Given the description of an element on the screen output the (x, y) to click on. 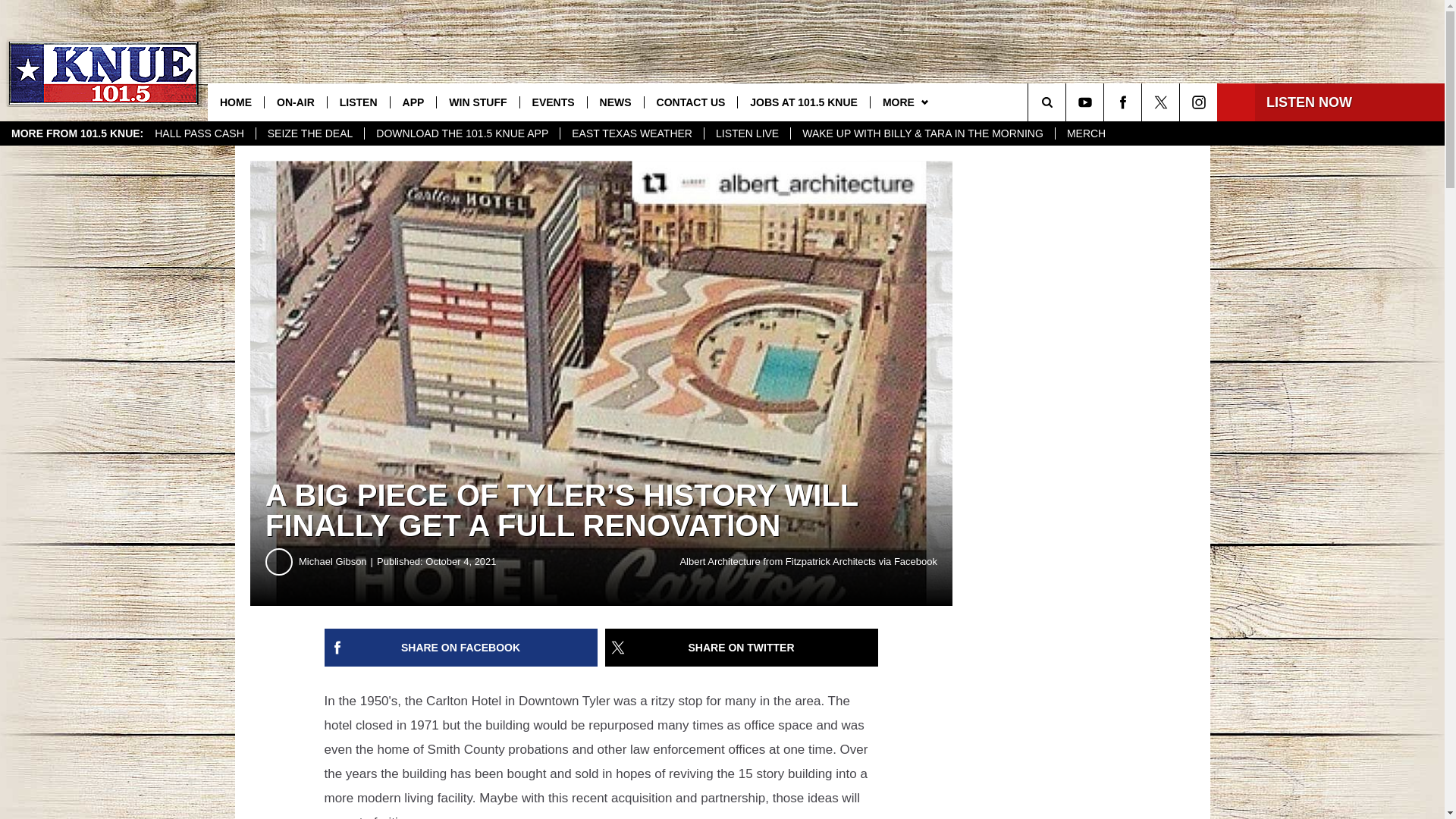
ON-AIR (294, 102)
SEARCH (1068, 102)
SEIZE THE DEAL (310, 133)
APP (413, 102)
LISTEN (358, 102)
MERCH (1085, 133)
Share on Facebook (460, 647)
EVENTS (552, 102)
WIN STUFF (476, 102)
HOME (235, 102)
